Given the description of an element on the screen output the (x, y) to click on. 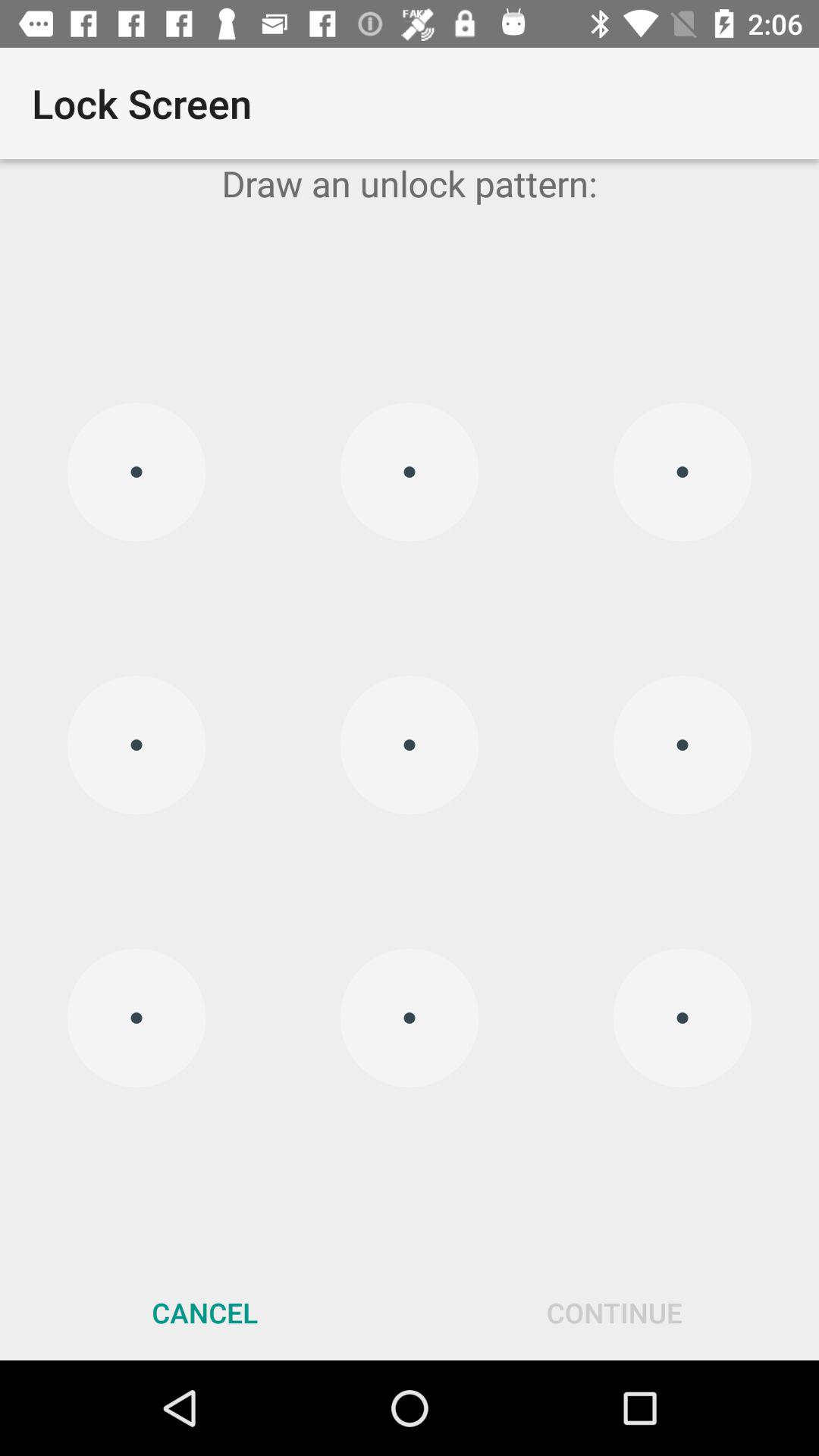
turn on the item below the draw an unlock app (409, 744)
